Given the description of an element on the screen output the (x, y) to click on. 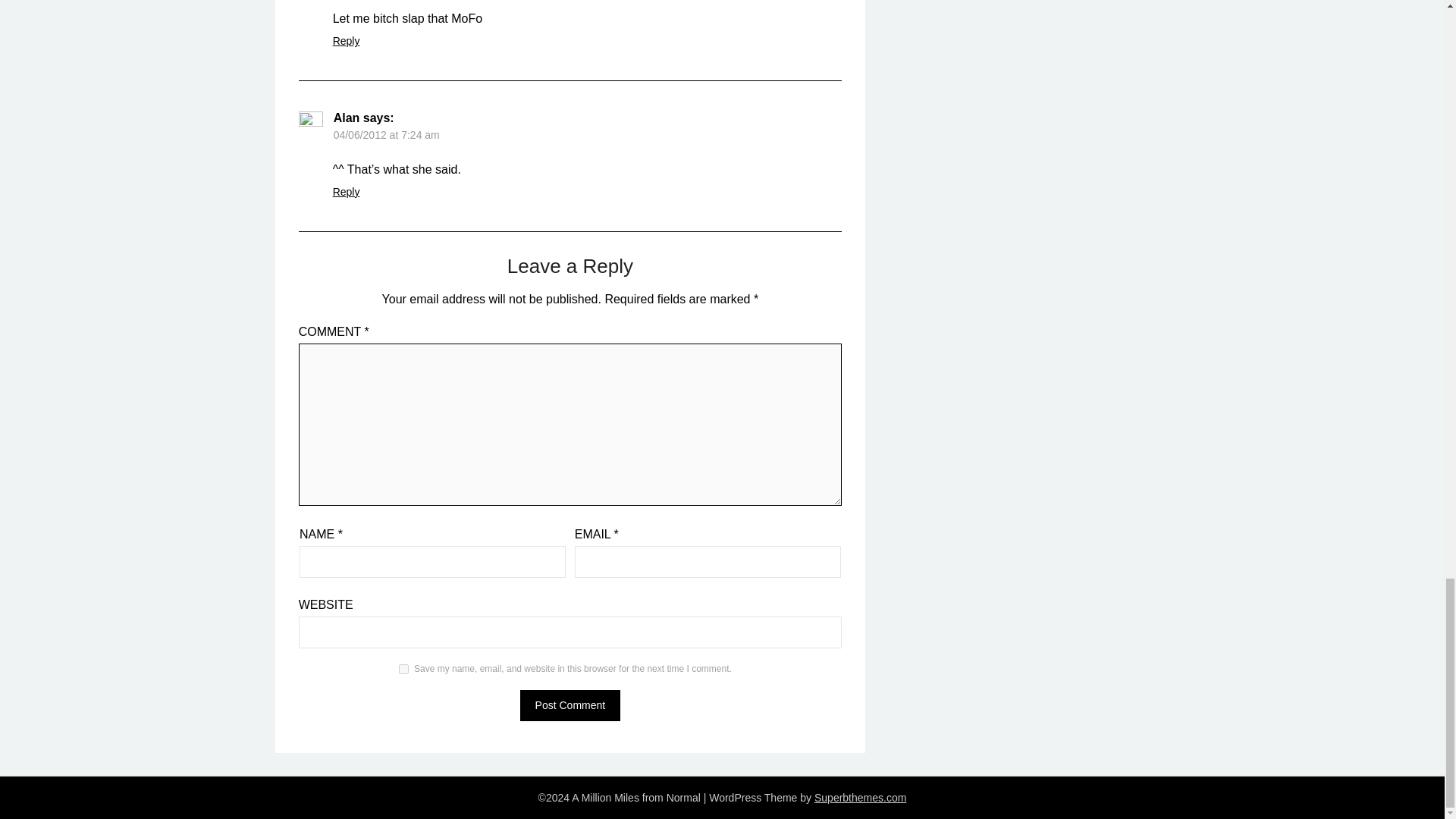
Post Comment (570, 705)
Reply (346, 40)
Superbthemes.com (859, 797)
yes (403, 669)
Reply (346, 191)
Post Comment (570, 705)
